Given the description of an element on the screen output the (x, y) to click on. 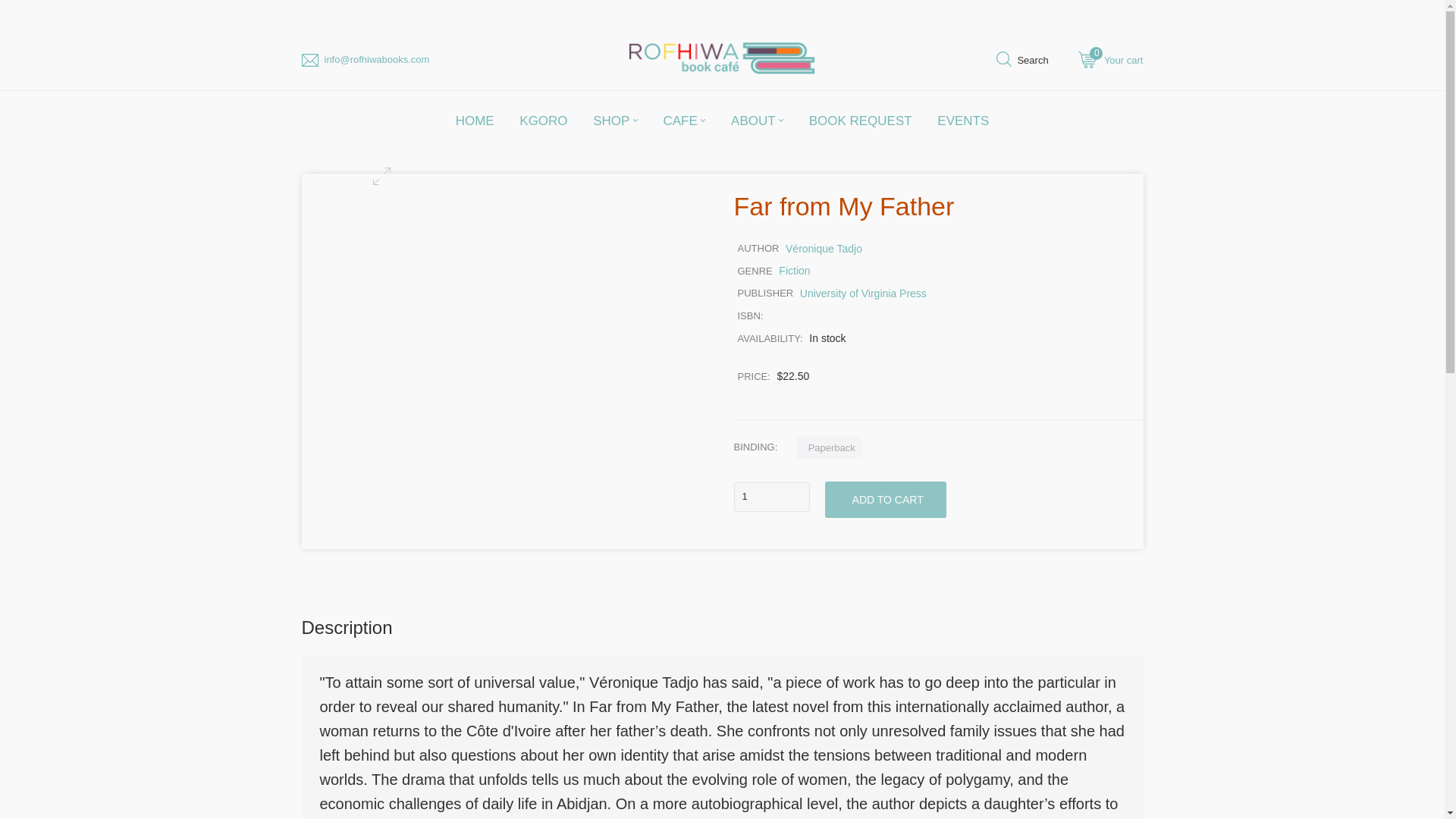
KGORO (543, 120)
Search (1021, 61)
1 (1110, 62)
SHOP (771, 496)
HOME (614, 120)
